Given the description of an element on the screen output the (x, y) to click on. 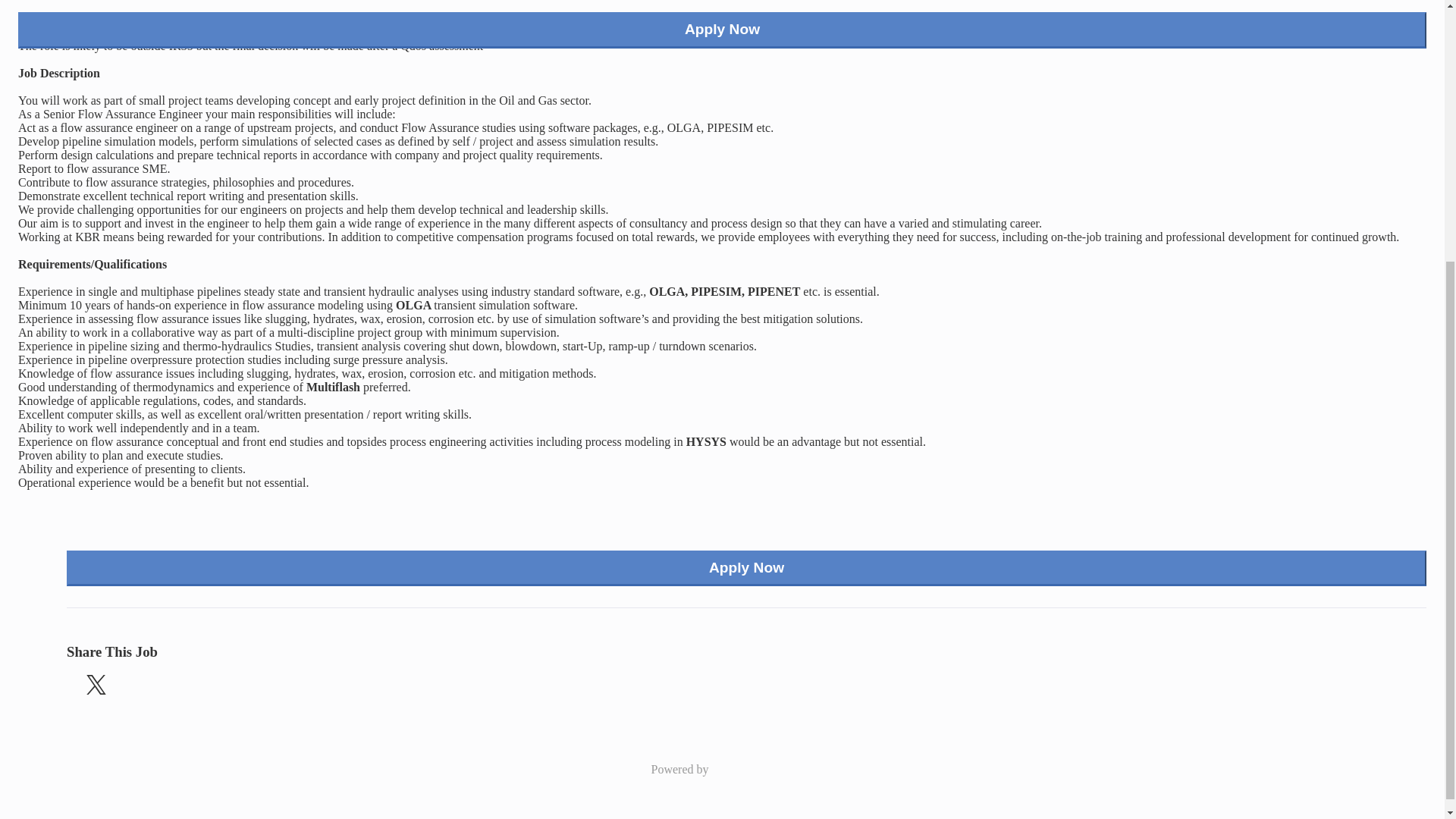
Apply Now (746, 568)
